Given the description of an element on the screen output the (x, y) to click on. 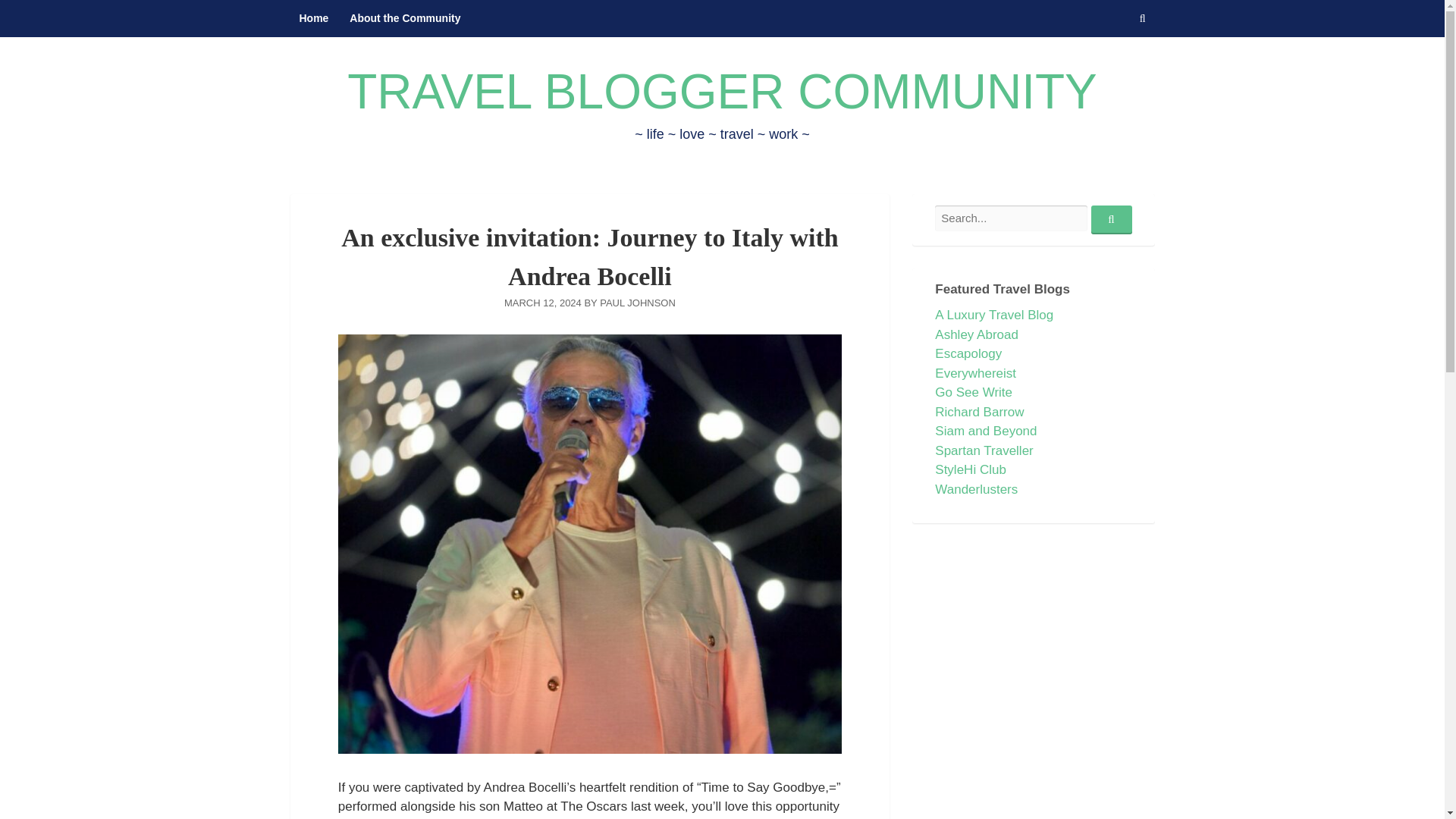
PAUL JOHNSON (637, 302)
Search for: (1010, 217)
Go See Write (972, 391)
StyleHi Club (970, 469)
Escapology (967, 353)
Home (313, 18)
Everywhereist (975, 372)
Ashley Abroad (975, 334)
MARCH 12, 2024 (541, 302)
Richard Barrow (978, 411)
